Given the description of an element on the screen output the (x, y) to click on. 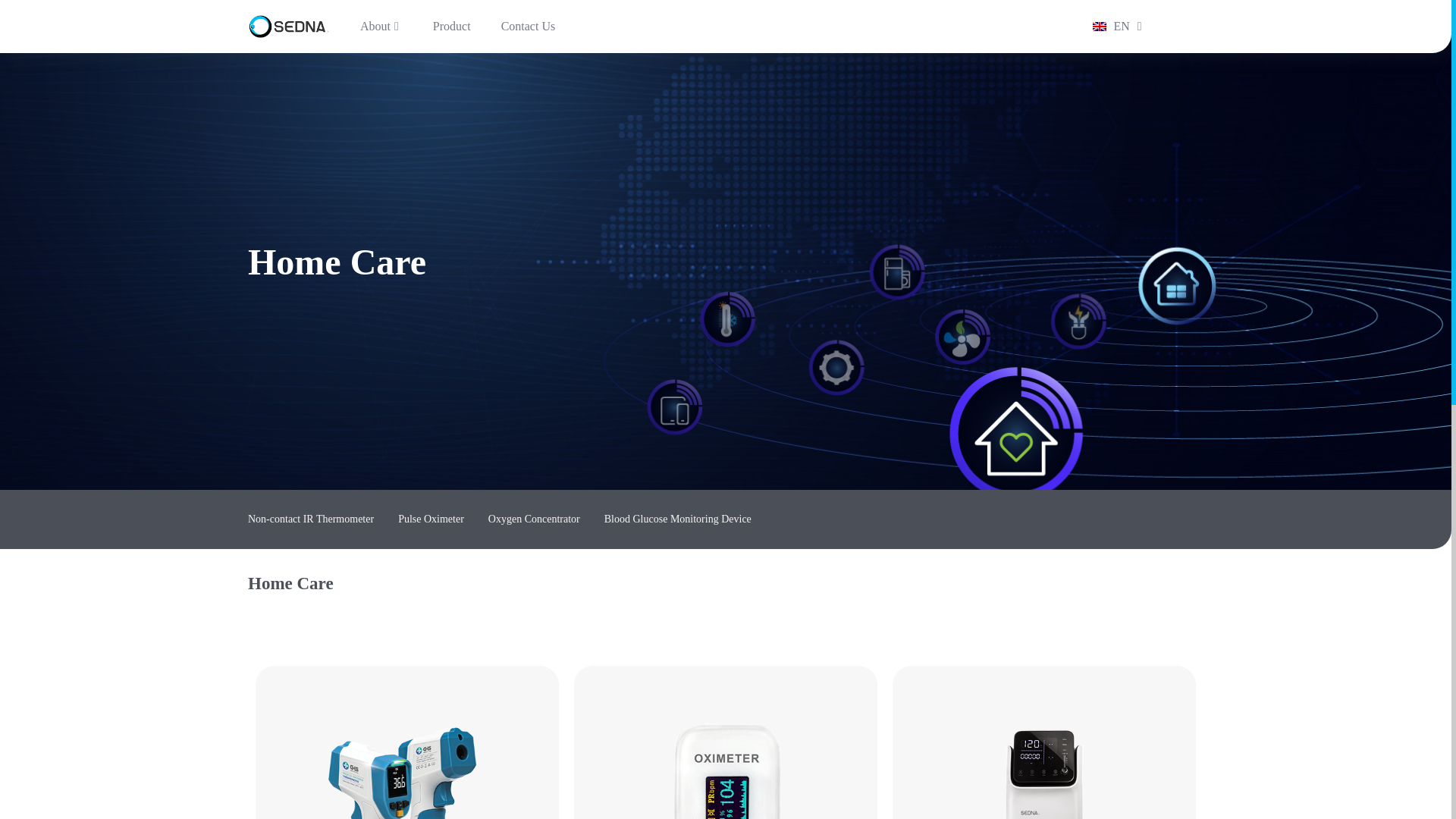
Product (452, 26)
EN (1108, 26)
EN (1108, 26)
Contact Us (528, 26)
About (381, 26)
